Given the description of an element on the screen output the (x, y) to click on. 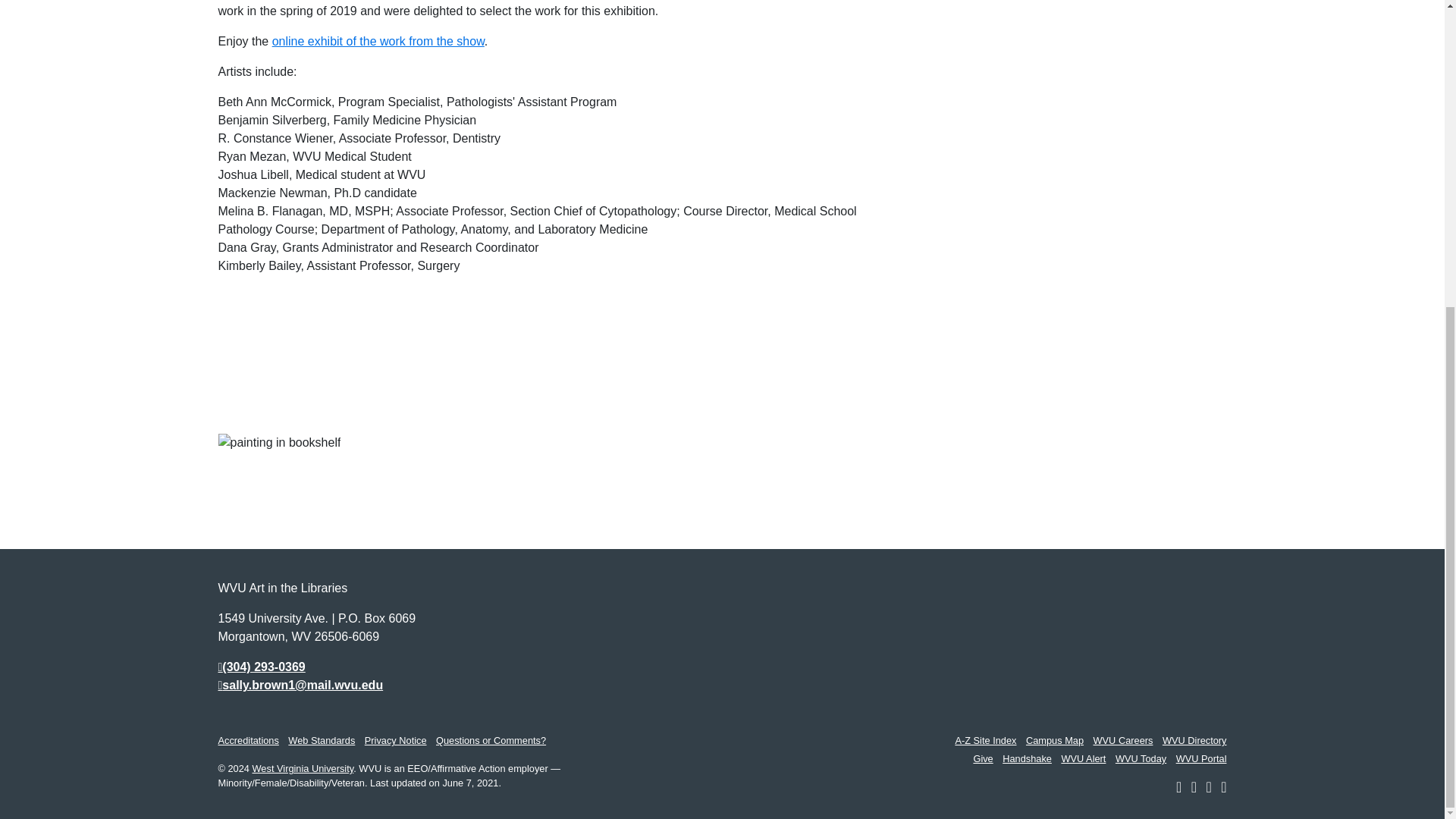
WVU Today (1140, 758)
WVU Careers (1123, 740)
Privacy Notice (395, 740)
West Virginia University (302, 767)
Accreditations (248, 740)
A-Z Site Index (985, 740)
WVU Directory (1194, 740)
WVU Alert (1083, 758)
Web Standards (321, 740)
Campus Map (1054, 740)
online exhibit of the work from the show (378, 41)
Handshake (1027, 758)
Questions or Comments? (490, 740)
WVU Portal (1201, 758)
Give (982, 758)
